Given the description of an element on the screen output the (x, y) to click on. 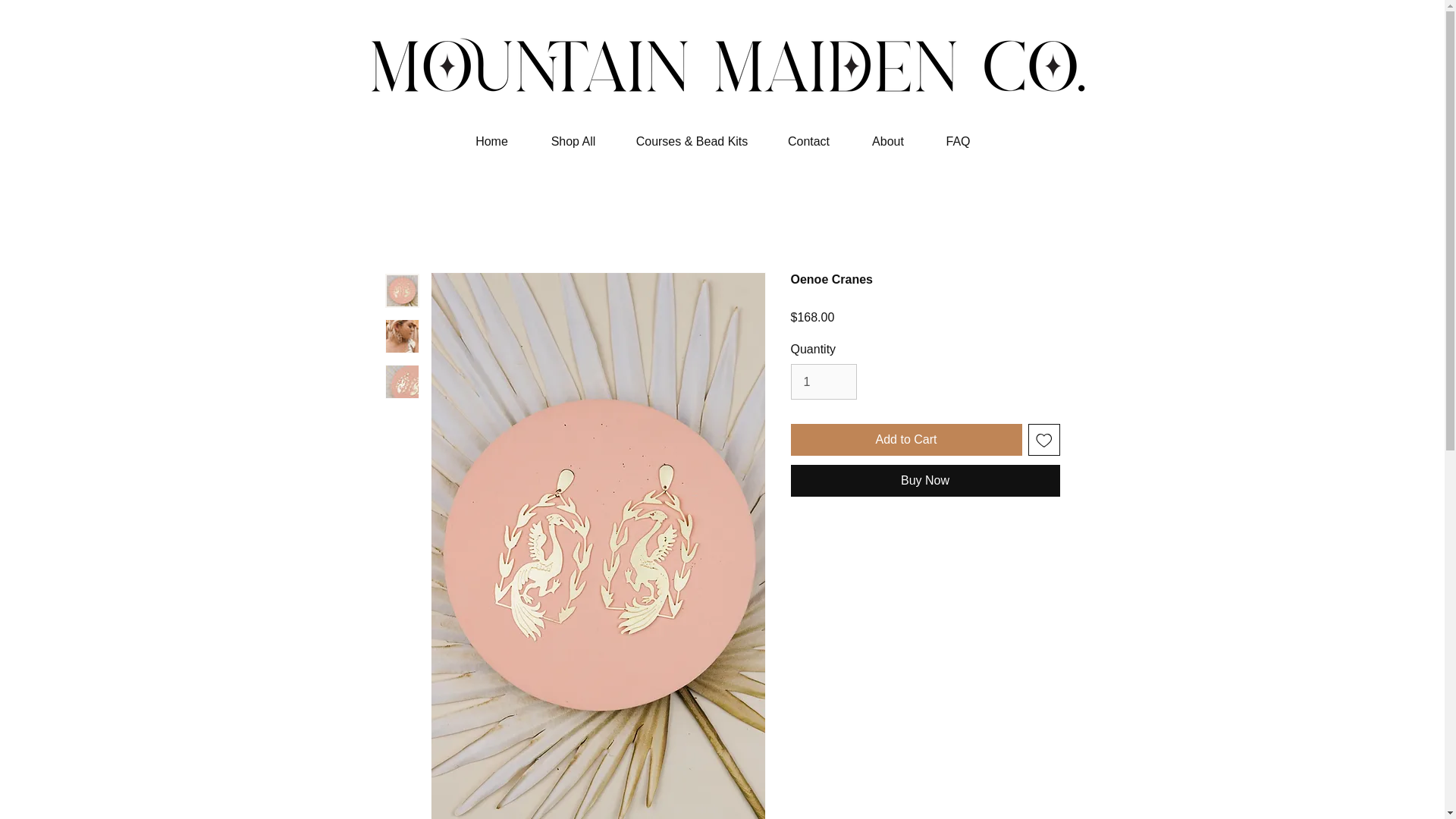
Home (490, 141)
logopng2023.png (721, 84)
About (888, 141)
Add to Cart (906, 439)
FAQ (957, 141)
Shop All (572, 141)
Log In (1288, 36)
1 (823, 380)
Cart (1370, 35)
Cart (1370, 35)
